Given the description of an element on the screen output the (x, y) to click on. 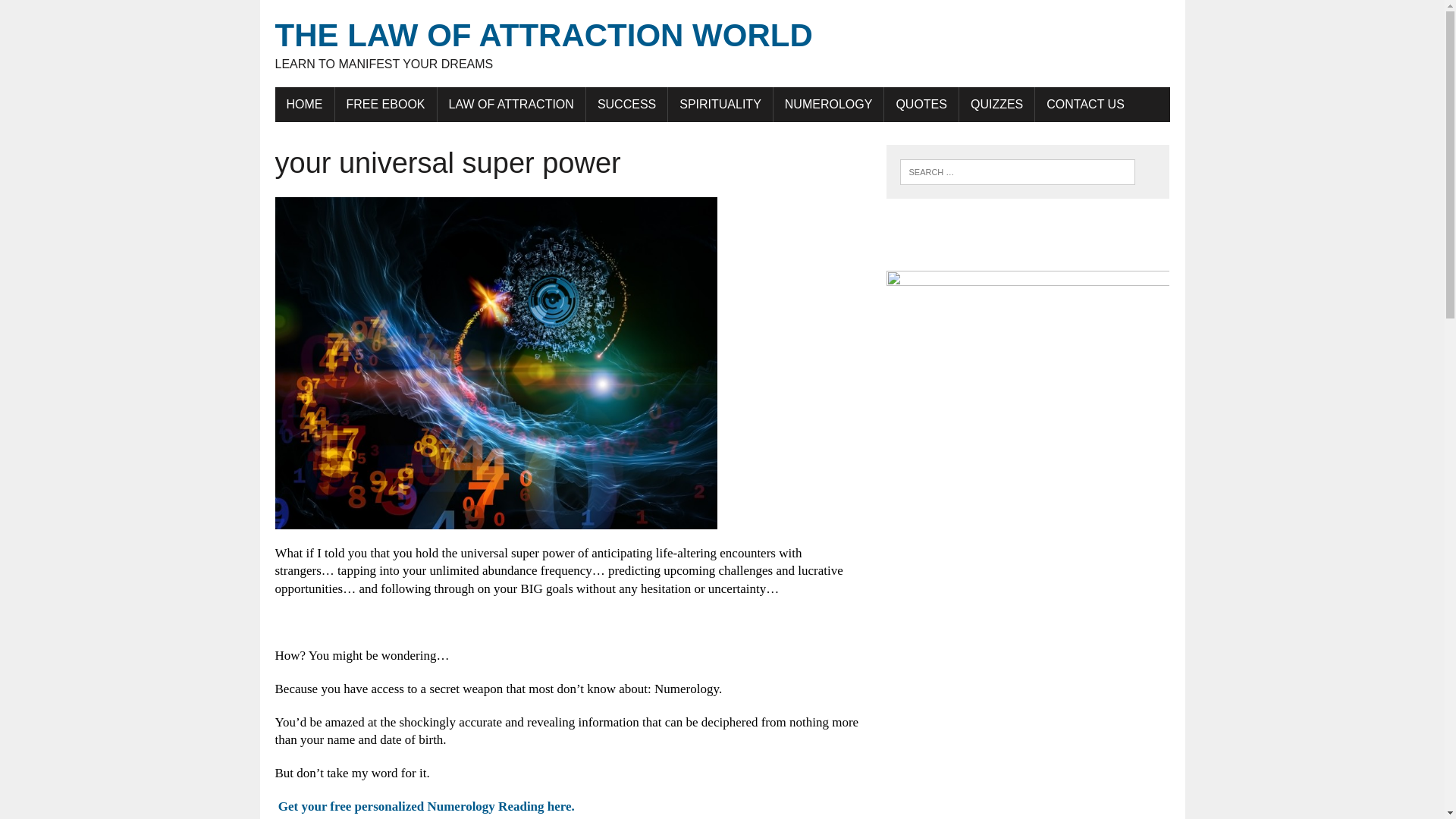
LAW OF ATTRACTION (511, 104)
HOME (304, 104)
QUIZZES (996, 104)
NUMEROLOGY (828, 104)
SPIRITUALITY (720, 104)
SUCCESS (626, 104)
QUOTES (920, 104)
Search (722, 43)
CONTACT US (75, 14)
